Given the description of an element on the screen output the (x, y) to click on. 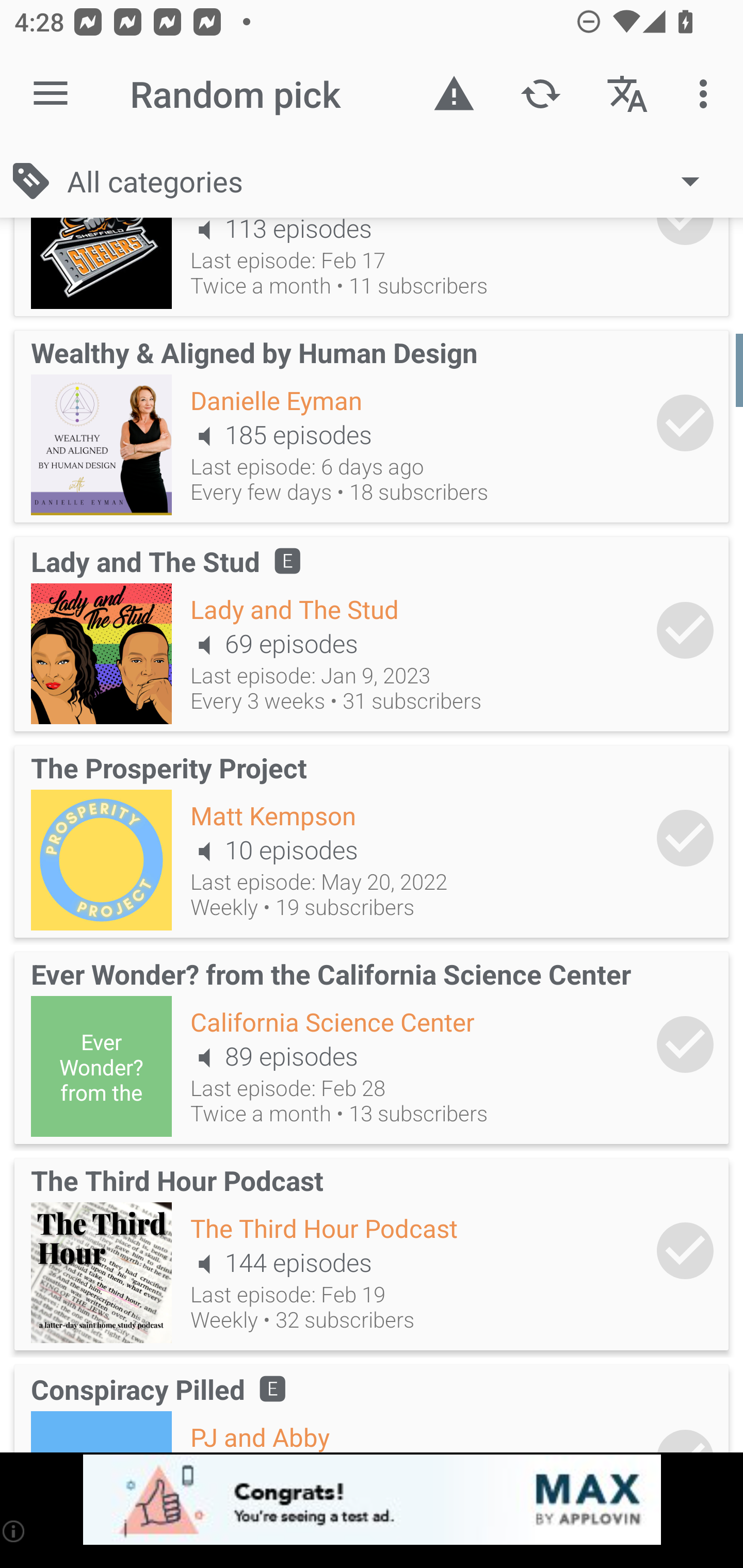
Open navigation sidebar (50, 93)
Report inappropriate content (453, 93)
Update top podcasts list (540, 93)
Podcast languages (626, 93)
More options (706, 93)
All categories (393, 180)
Add (684, 422)
Add (684, 630)
Add (684, 837)
Add (684, 1044)
Add (684, 1250)
app-monetization (371, 1500)
(i) (14, 1531)
